Given the description of an element on the screen output the (x, y) to click on. 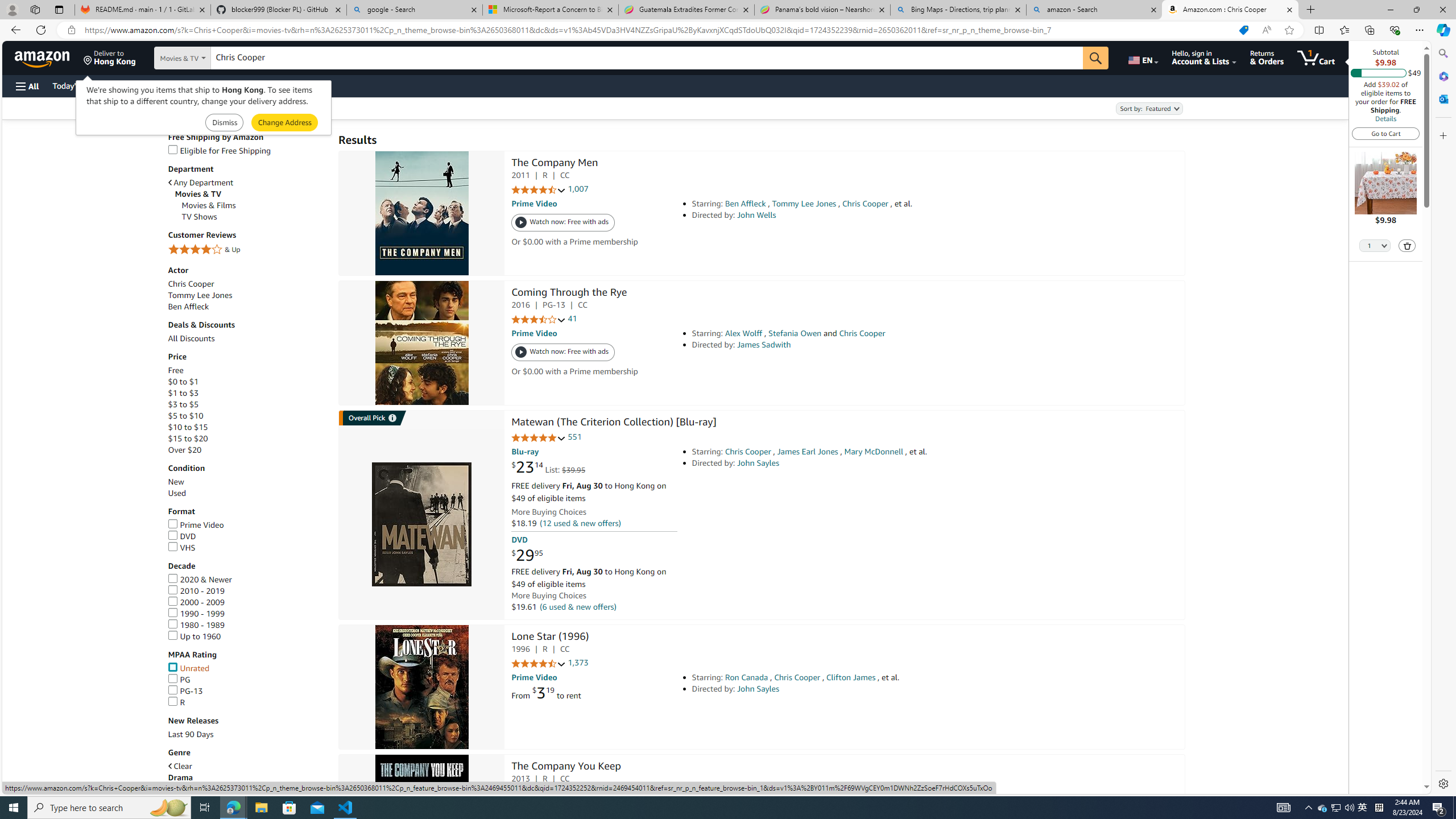
Watch now: Free with ads (563, 352)
Details (1385, 118)
PG-13 (184, 690)
Amazon.com : Chris Cooper (1230, 9)
$3 to $5 (183, 404)
4.8 out of 5 stars (538, 437)
Tommy Lee Jones (199, 294)
Directed by: John Sayles (850, 689)
$10 to $15 (247, 427)
Any Department (200, 182)
$0 to $1 (247, 381)
New (175, 481)
2010 - 2019 (195, 590)
